Given the description of an element on the screen output the (x, y) to click on. 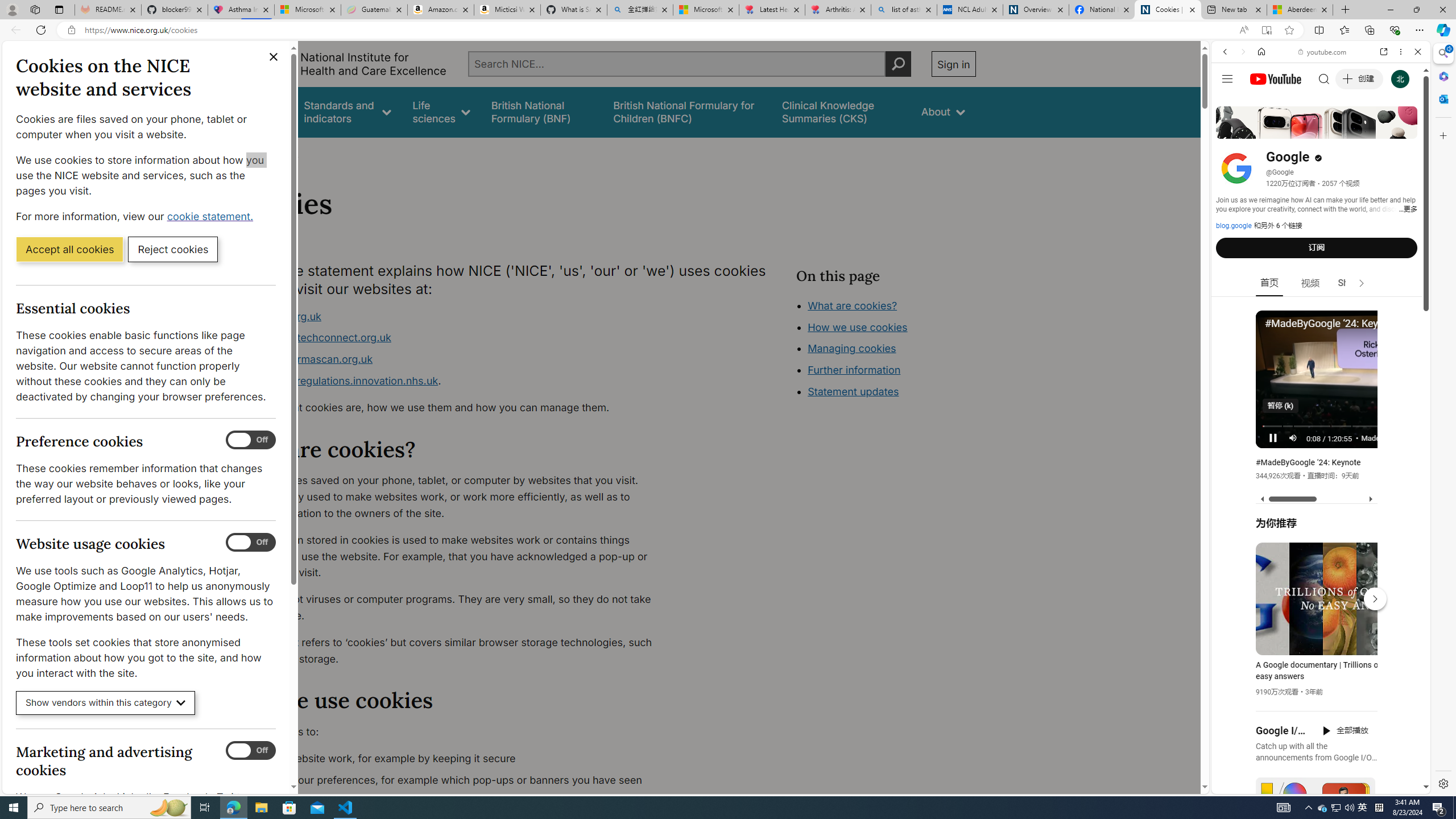
What are cookies? (852, 305)
Class: style-scope tp-yt-iron-icon (1361, 283)
Search videos from youtube.com (1299, 373)
British National Formulary for Children (BNFC) (686, 111)
